Given the description of an element on the screen output the (x, y) to click on. 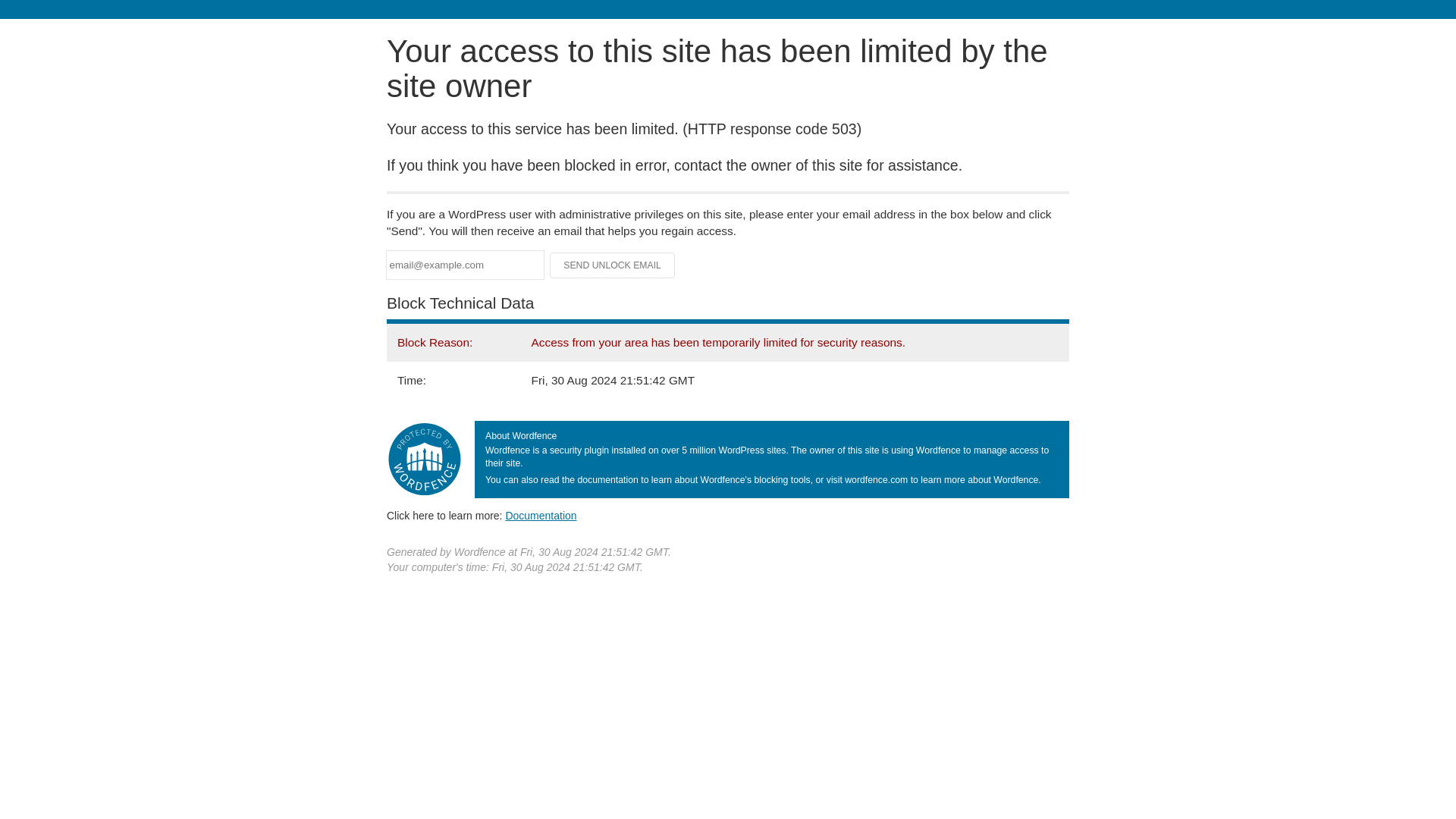
Send Unlock Email (612, 265)
Documentation (540, 515)
Send Unlock Email (612, 265)
